Given the description of an element on the screen output the (x, y) to click on. 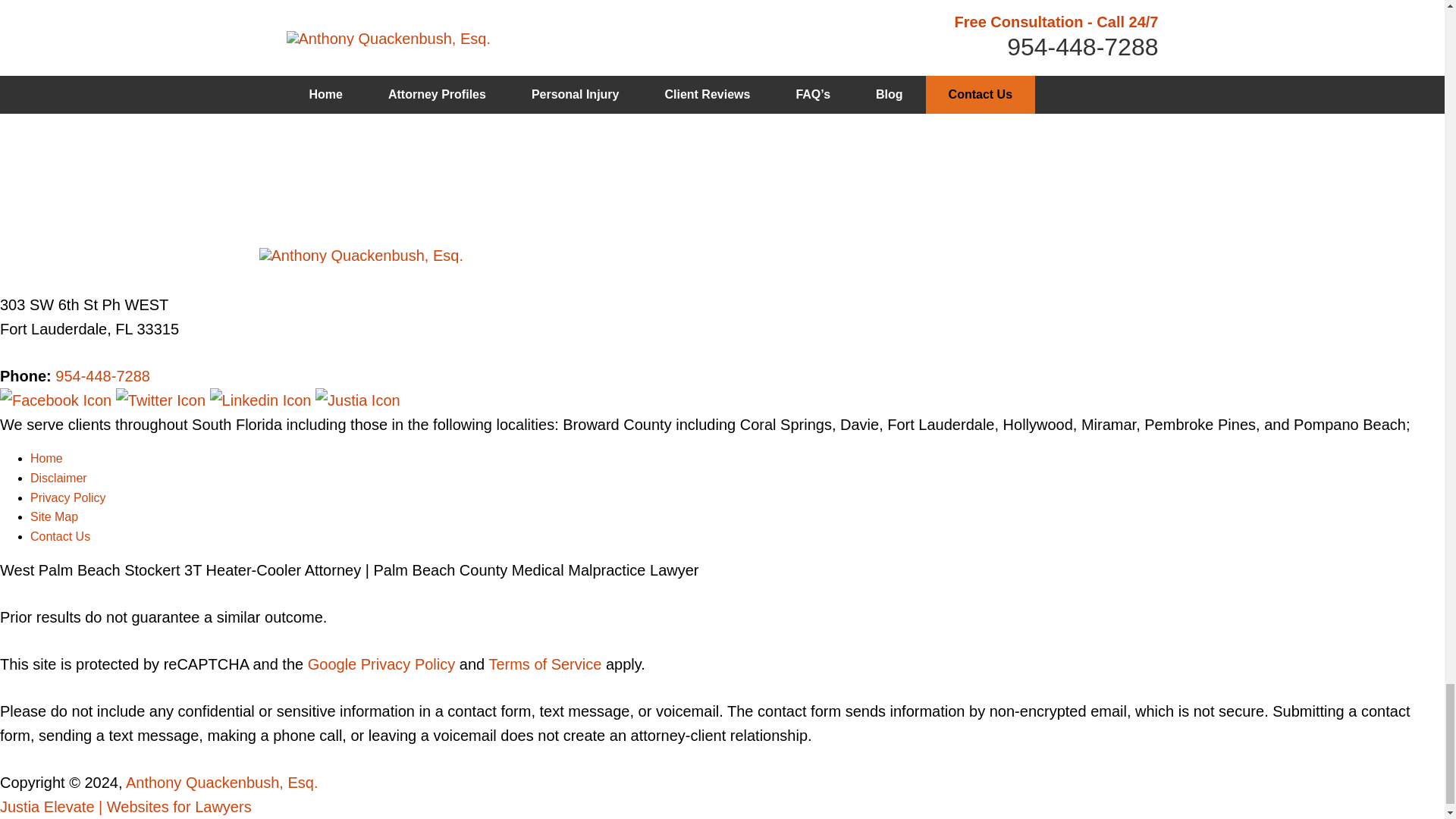
Twitter (162, 400)
Linkedin (262, 400)
Justia (357, 400)
Facebook (58, 400)
